Given the description of an element on the screen output the (x, y) to click on. 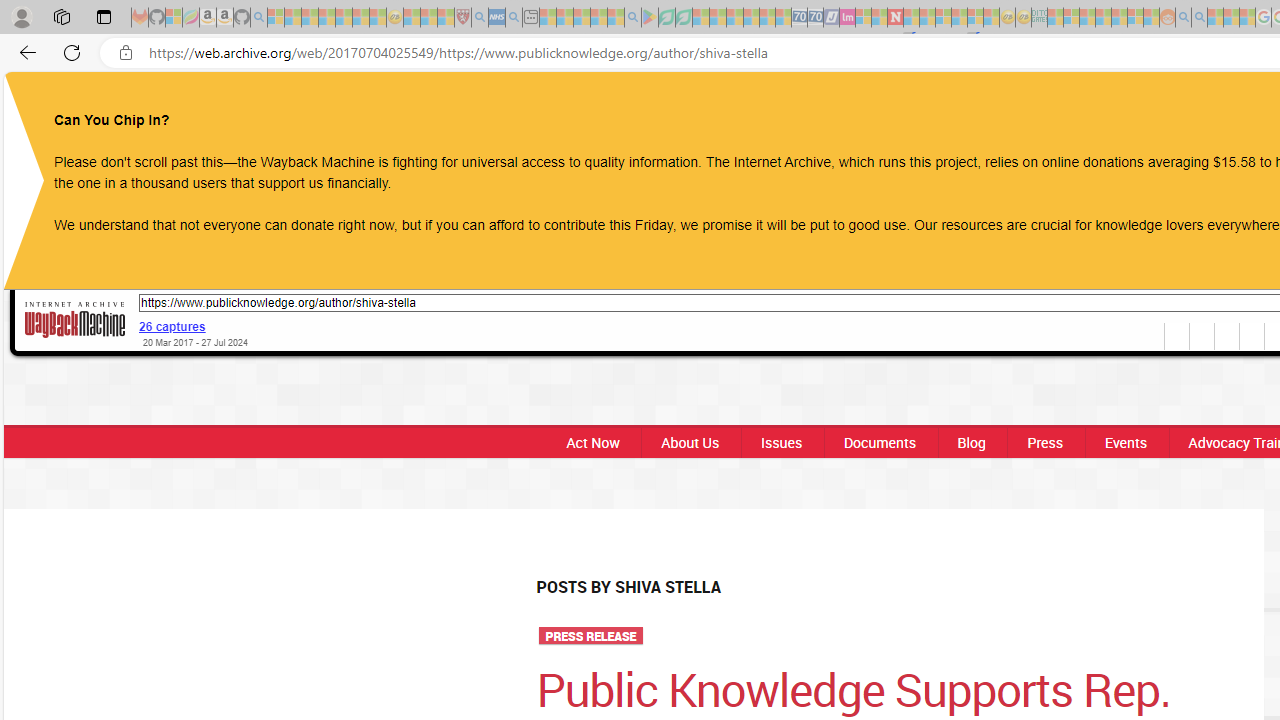
Open the menu (783, 109)
Events (1126, 442)
TWITTER (1218, 108)
TWITTER (1218, 108)
